Given the description of an element on the screen output the (x, y) to click on. 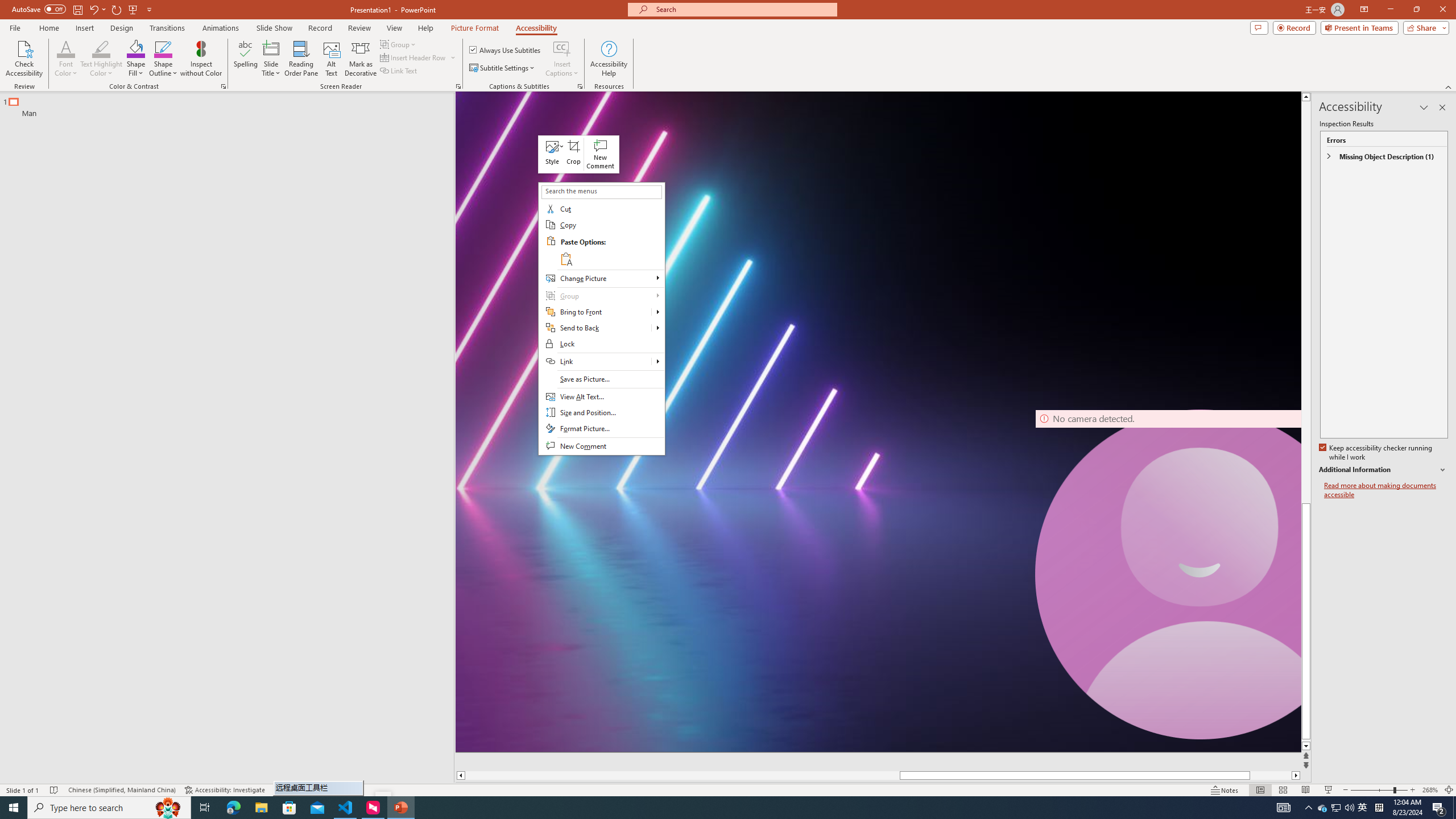
Format Picture... (600, 428)
Crop (573, 154)
Mark as Decorative (360, 58)
